Given the description of an element on the screen output the (x, y) to click on. 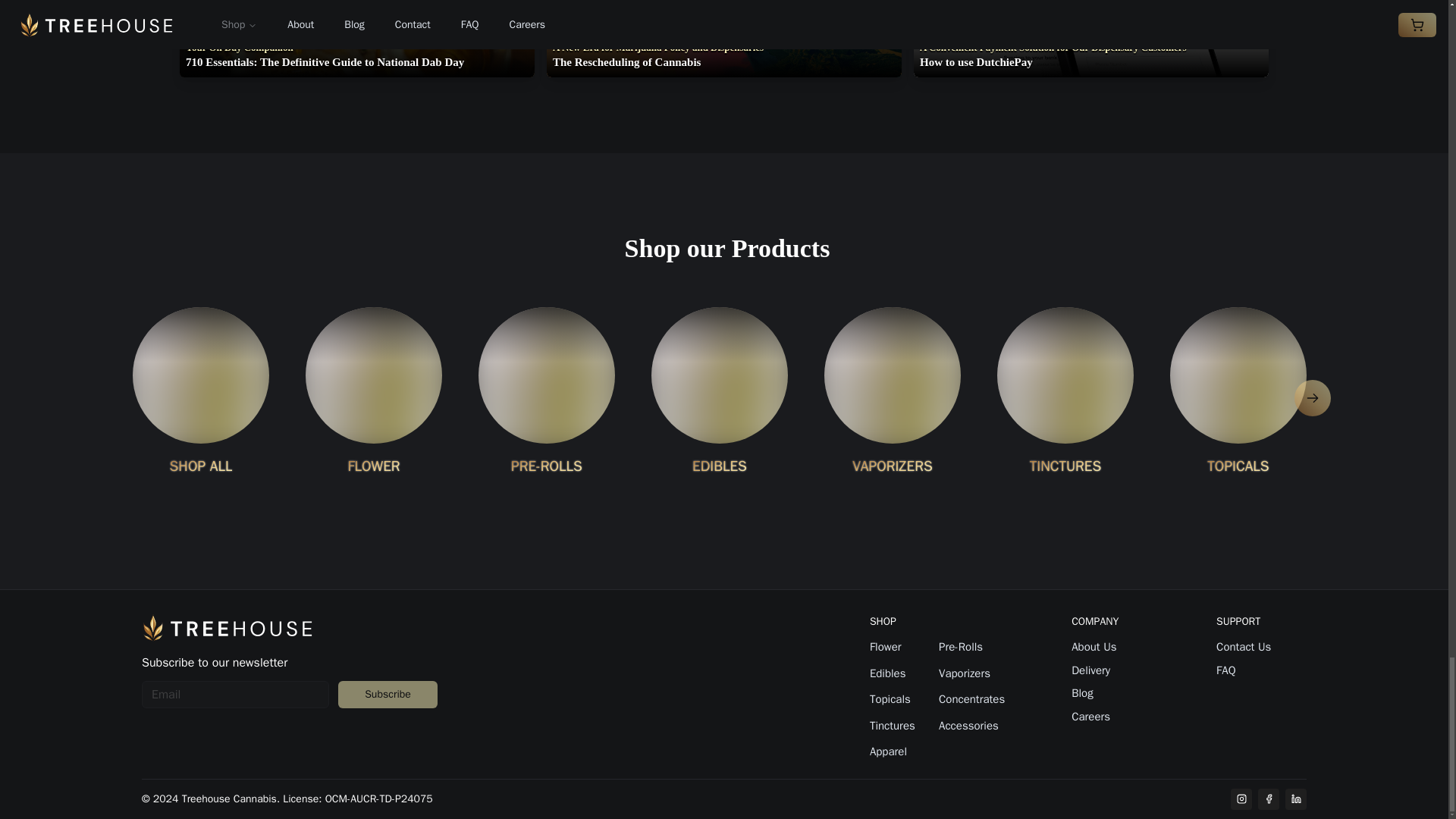
Subscribe (387, 694)
Next slide (1312, 398)
